Given the description of an element on the screen output the (x, y) to click on. 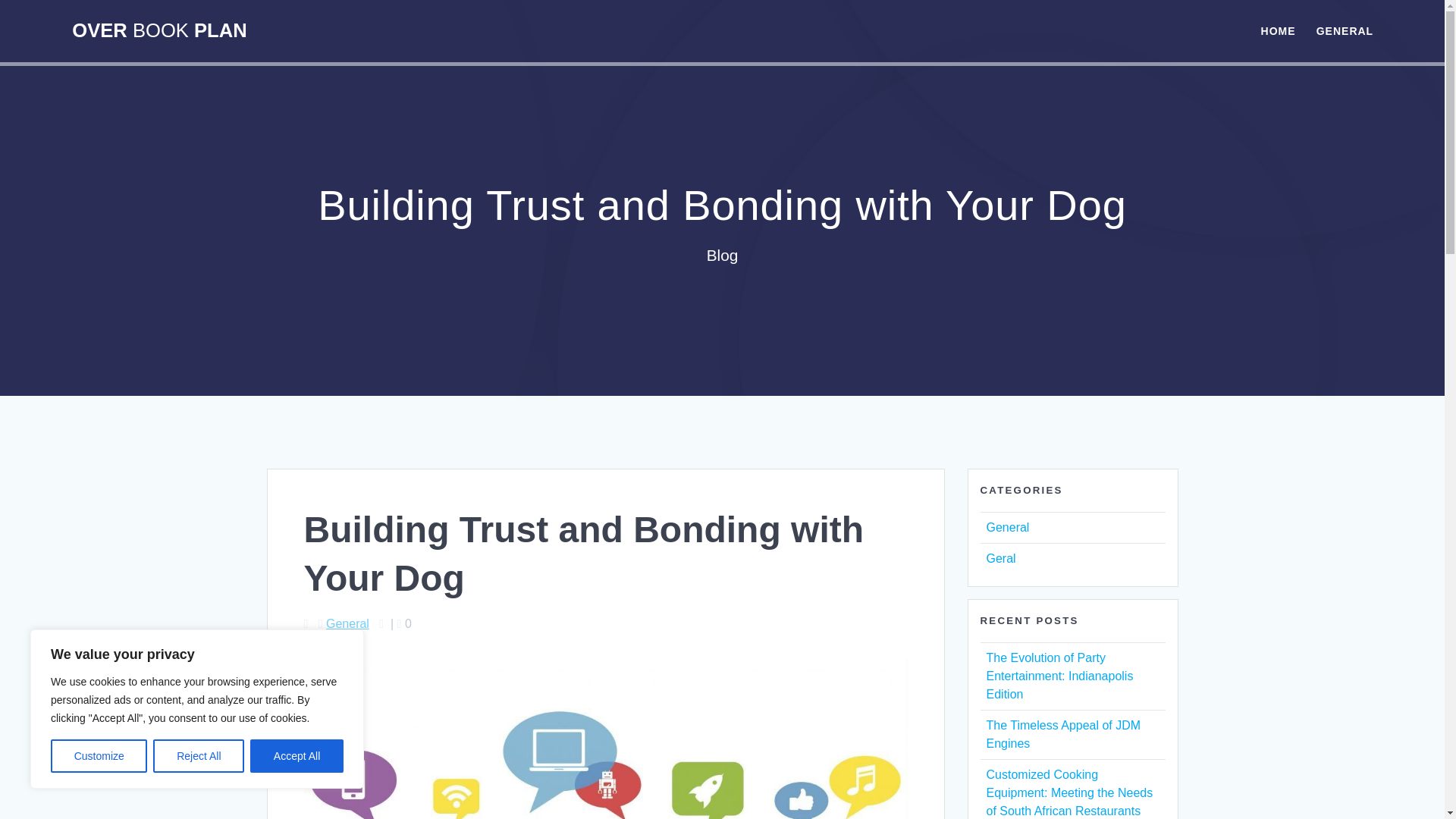
GENERAL (1344, 30)
OVER BOOK PLAN (158, 30)
Geral (999, 558)
Reject All (198, 756)
Customize (98, 756)
General (1007, 526)
The Evolution of Party Entertainment: Indianapolis Edition (1058, 676)
HOME (1277, 30)
The Timeless Appeal of JDM Engines (1062, 734)
